Given the description of an element on the screen output the (x, y) to click on. 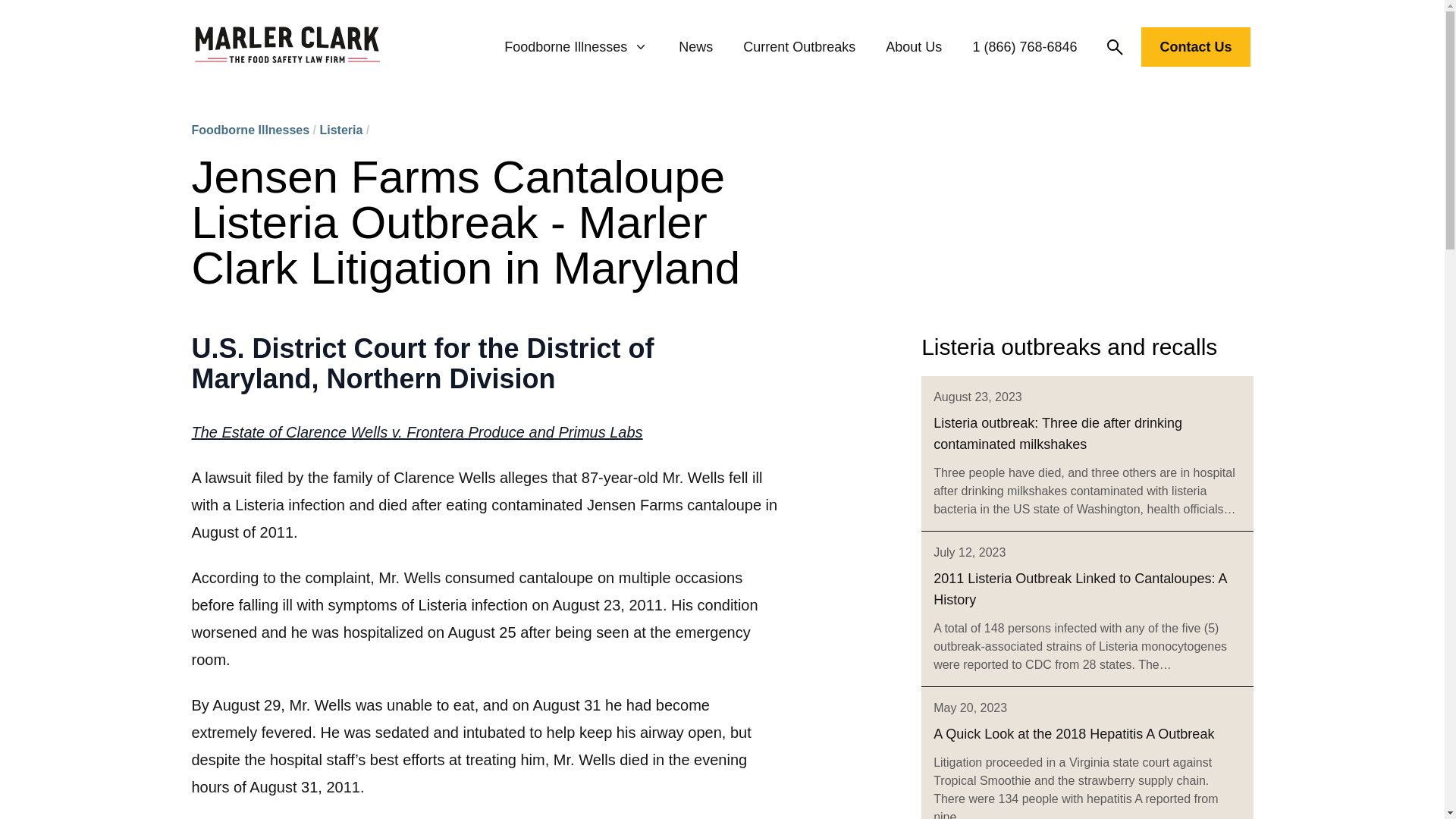
Listeria (340, 129)
Contact Us (1195, 49)
Foodborne Illnesses (249, 129)
Current Outbreaks (799, 46)
Foodborne Illnesses (576, 46)
News (695, 46)
2011 Listeria Outbreak Linked to Cantaloupes: A History (1079, 588)
A Quick Look at the 2018 Hepatitis A Outbreak (1073, 734)
Contact Us (1195, 46)
About Us (913, 46)
Marler Clark (286, 46)
